Given the description of an element on the screen output the (x, y) to click on. 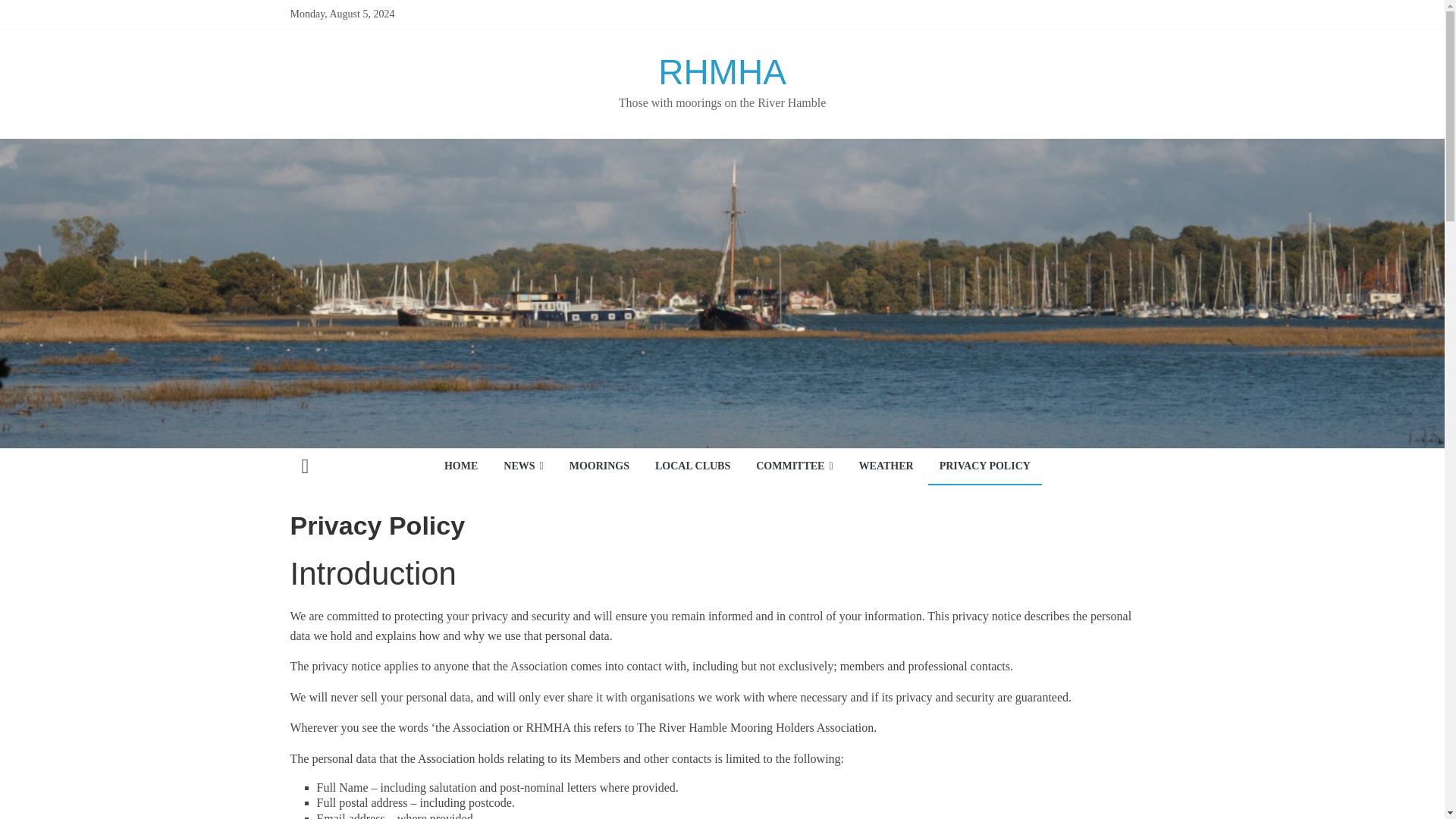
RHMHA (304, 467)
HOME (460, 466)
RHMHA (722, 71)
RHMHA (722, 71)
COMMITTEE (794, 466)
NEWS (523, 466)
MOORINGS (598, 466)
LOCAL CLUBS (692, 466)
PRIVACY POLICY (985, 466)
WEATHER (885, 466)
